Given the description of an element on the screen output the (x, y) to click on. 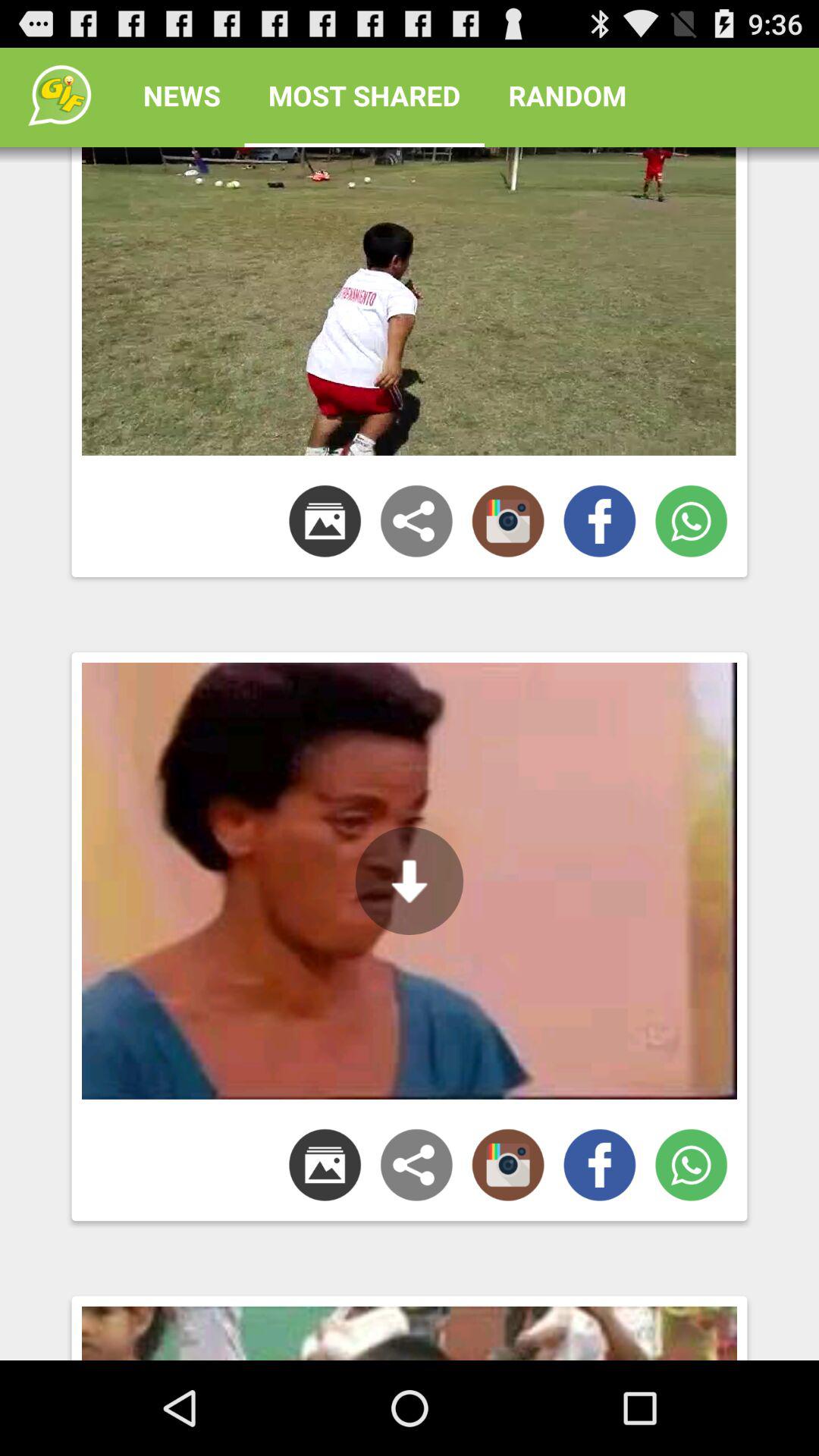
click on the button which is left side of the instagram (416, 1165)
click on the first instagram icon beside the facebook icon from the bottom of the web page (508, 1165)
click on third image (409, 1323)
select the text which is next to the most shared (567, 95)
click on first icon in second image (325, 1165)
select the icon which is top left side of the page (59, 95)
the download icon shown on the second image from the top (409, 880)
